Given the description of an element on the screen output the (x, y) to click on. 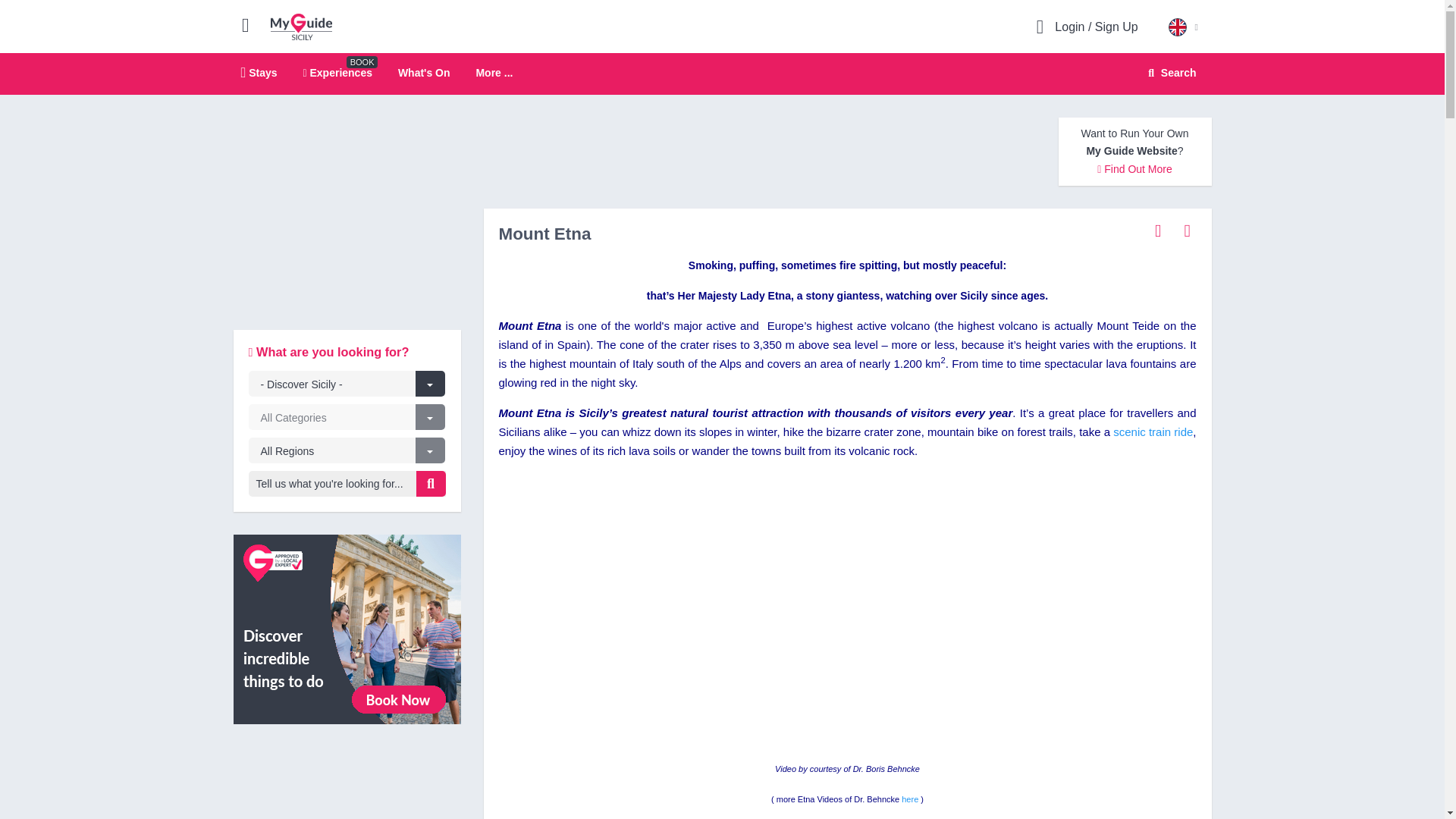
What's On (423, 72)
More ... (494, 72)
Search (1169, 72)
My Guide Sicily (300, 25)
GetYourGuide Widget (346, 782)
Stays (721, 74)
View All Experiences (259, 72)
Experiences (346, 627)
